Given the description of an element on the screen output the (x, y) to click on. 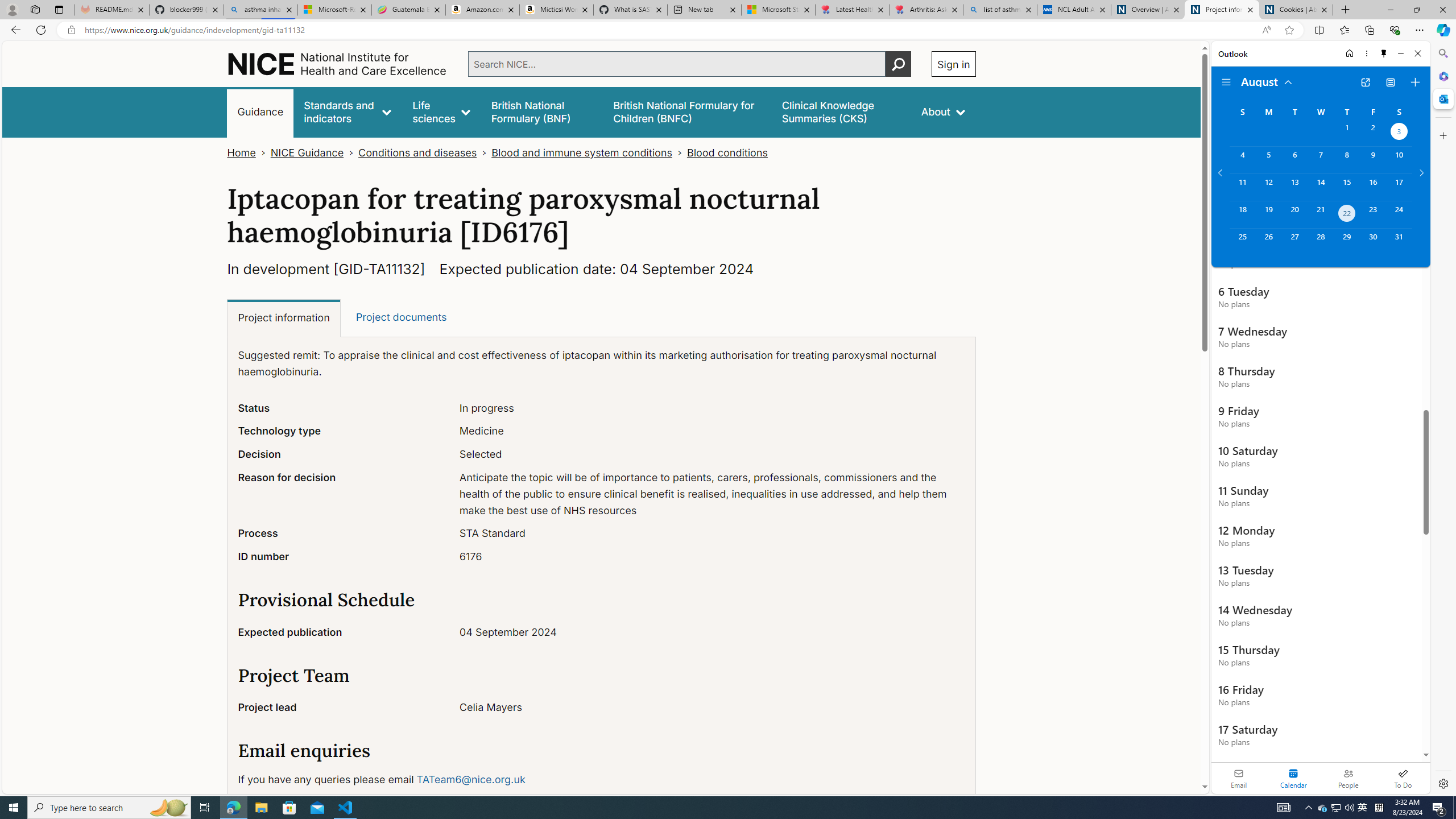
Microsoft-Report a Concern to Bing (334, 9)
Settings and more (Alt+F) (1419, 29)
Wednesday, August 21, 2024.  (1320, 214)
Settings (1442, 783)
Tuesday, August 13, 2024.  (1294, 186)
New Tab (1346, 9)
Workspaces (34, 9)
Selected calendar module. Date today is 22 (1293, 777)
Friday, August 23, 2024.  (1372, 214)
Split screen (1318, 29)
